Given the description of an element on the screen output the (x, y) to click on. 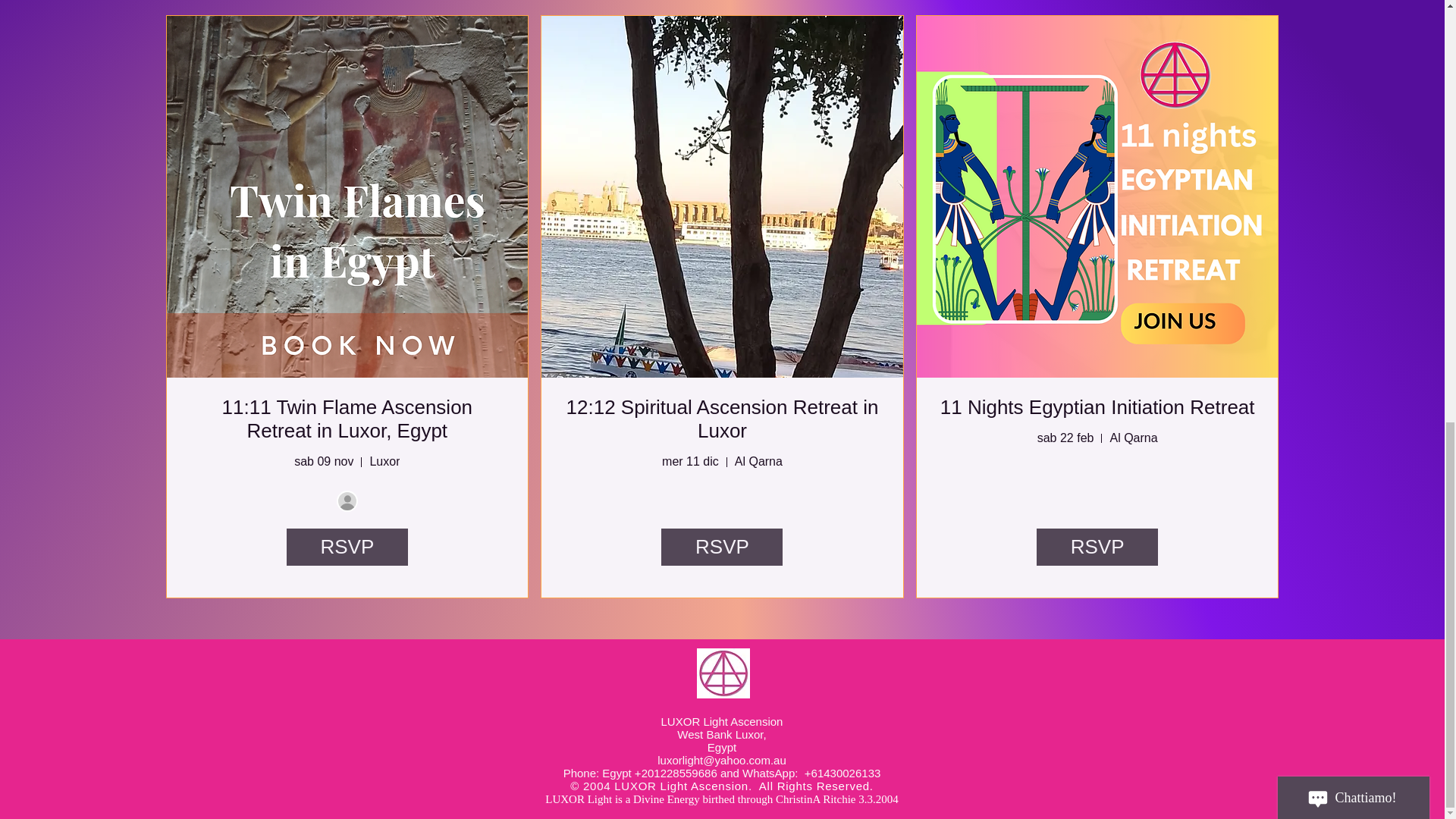
11 Nights Egyptian Initiation Retreat (1097, 406)
RSVP (346, 546)
RSVP (1096, 546)
11:11 Twin Flame Ascension Retreat in Luxor, Egypt (346, 418)
RSVP (722, 546)
12:12 Spiritual Ascension Retreat in Luxor (722, 418)
